Given the description of an element on the screen output the (x, y) to click on. 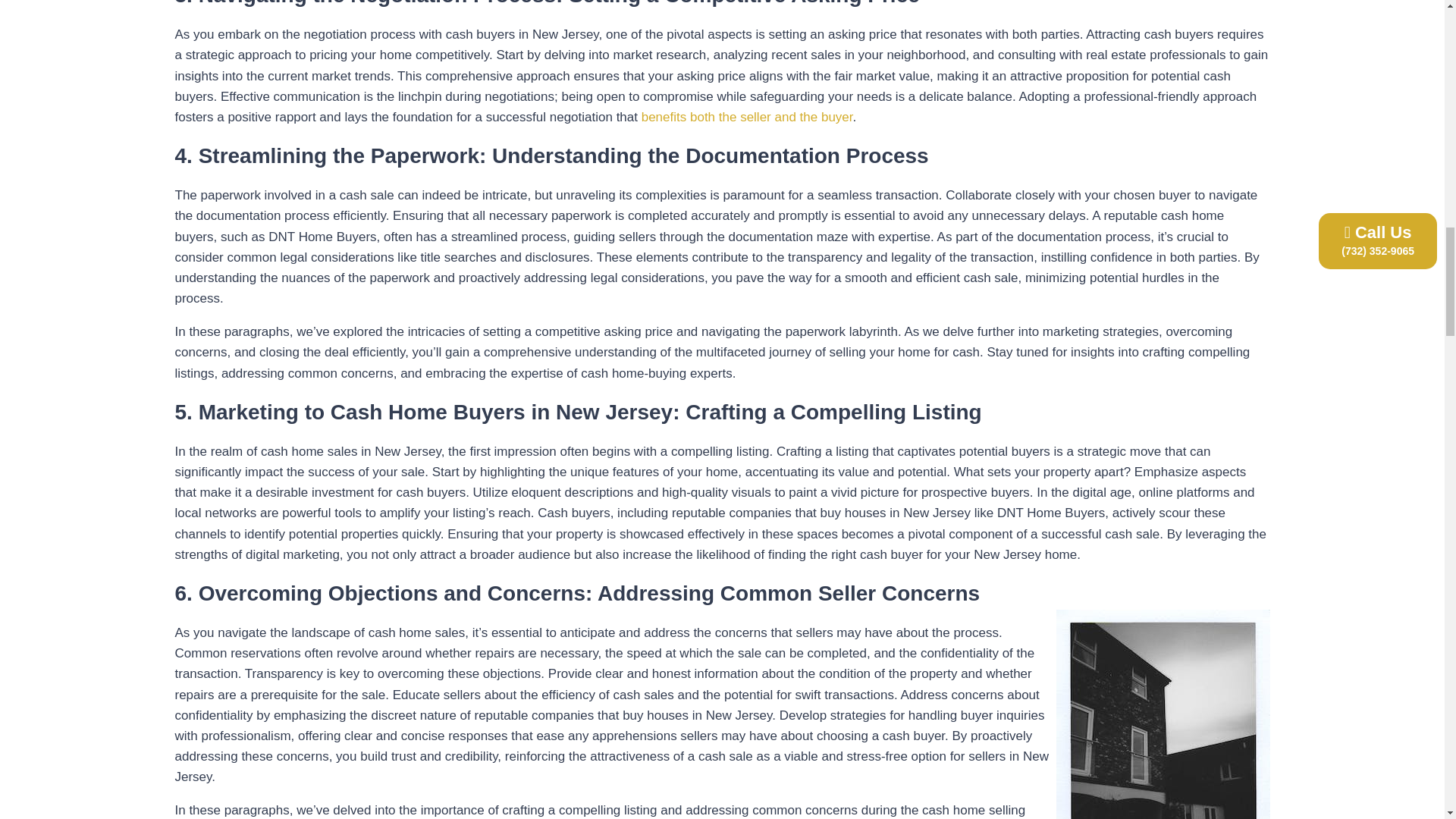
benefits both the seller and the buyer (745, 116)
